Given the description of an element on the screen output the (x, y) to click on. 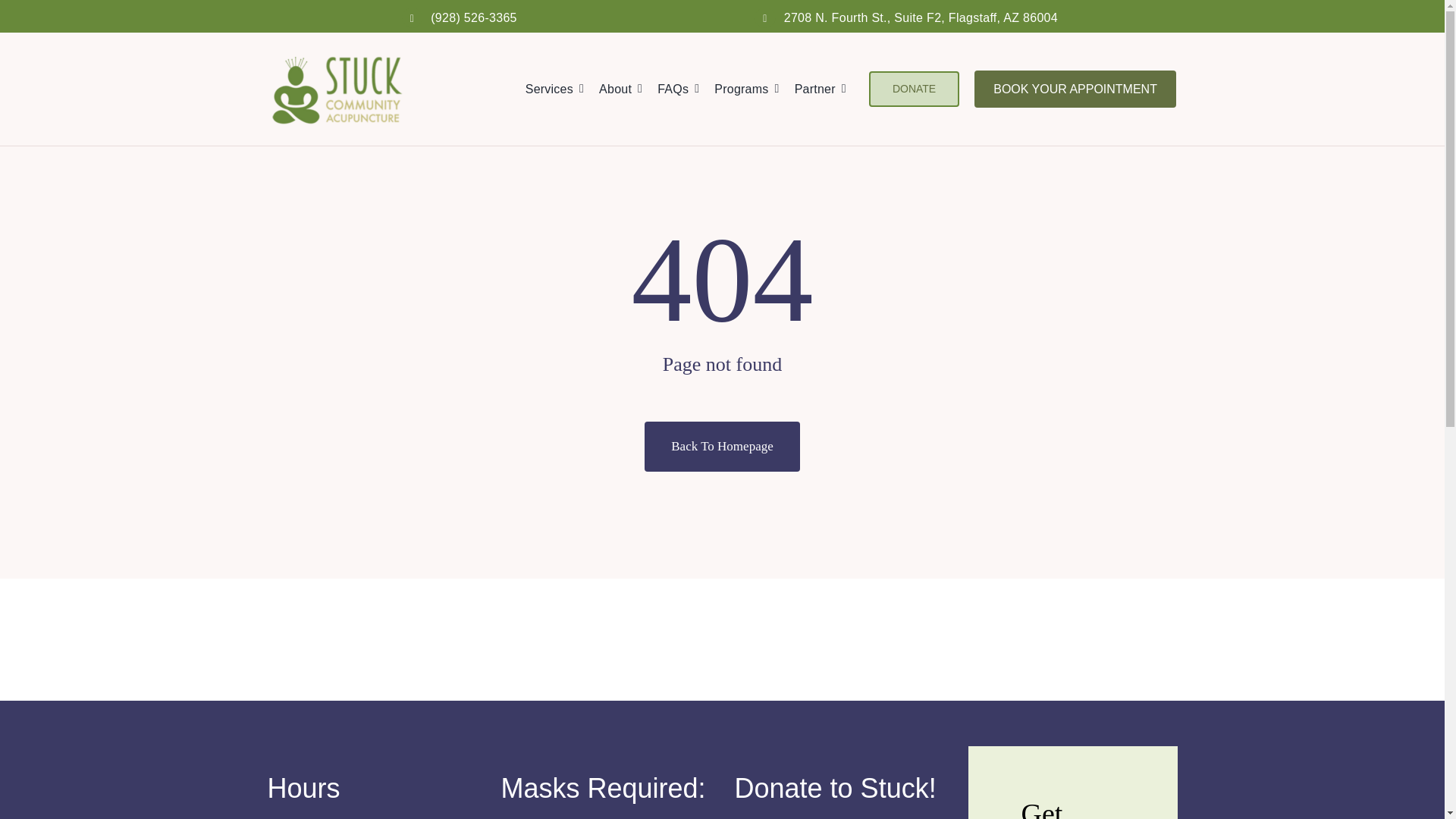
FAQs (686, 88)
BOOK YOUR APPOINTMENT (1075, 88)
2708 N. Fourth St., Suite F2, Flagstaff, AZ 86004 (921, 17)
Partner (827, 88)
DONATE (914, 89)
Programs (753, 88)
About (628, 88)
Back To Homepage (722, 446)
Services (561, 88)
